Given the description of an element on the screen output the (x, y) to click on. 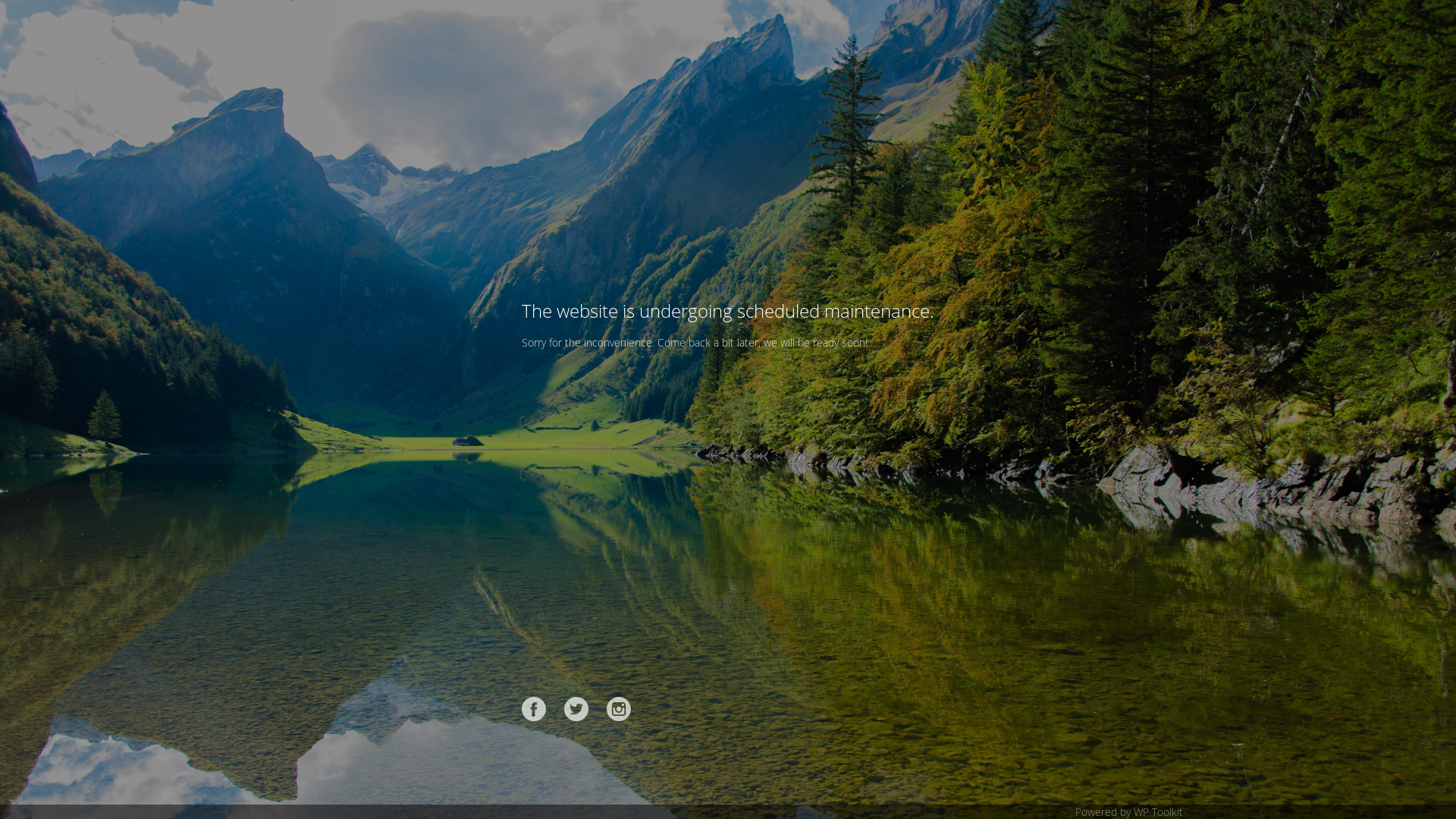
Instagram Element type: hover (618, 708)
Facebook Element type: hover (533, 708)
Twitter Element type: hover (576, 708)
